Given the description of an element on the screen output the (x, y) to click on. 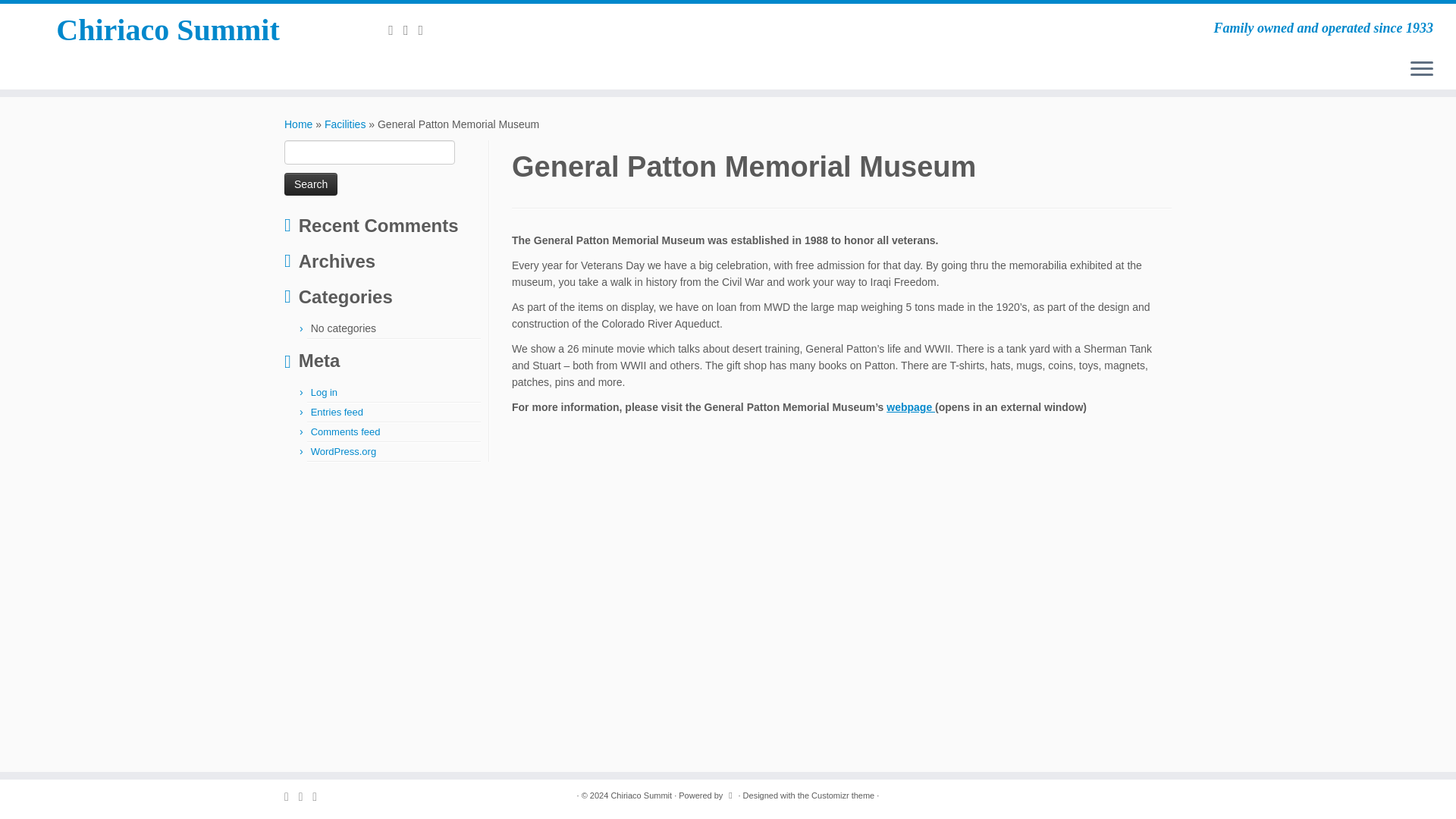
Open the menu (1421, 69)
Search (310, 183)
webpage (910, 407)
E-mail (411, 29)
Home (298, 123)
Subscribe to my rss feed (395, 29)
Entries feed (336, 411)
Log in (324, 392)
Chiriaco Summit (168, 30)
Search (310, 183)
